Given the description of an element on the screen output the (x, y) to click on. 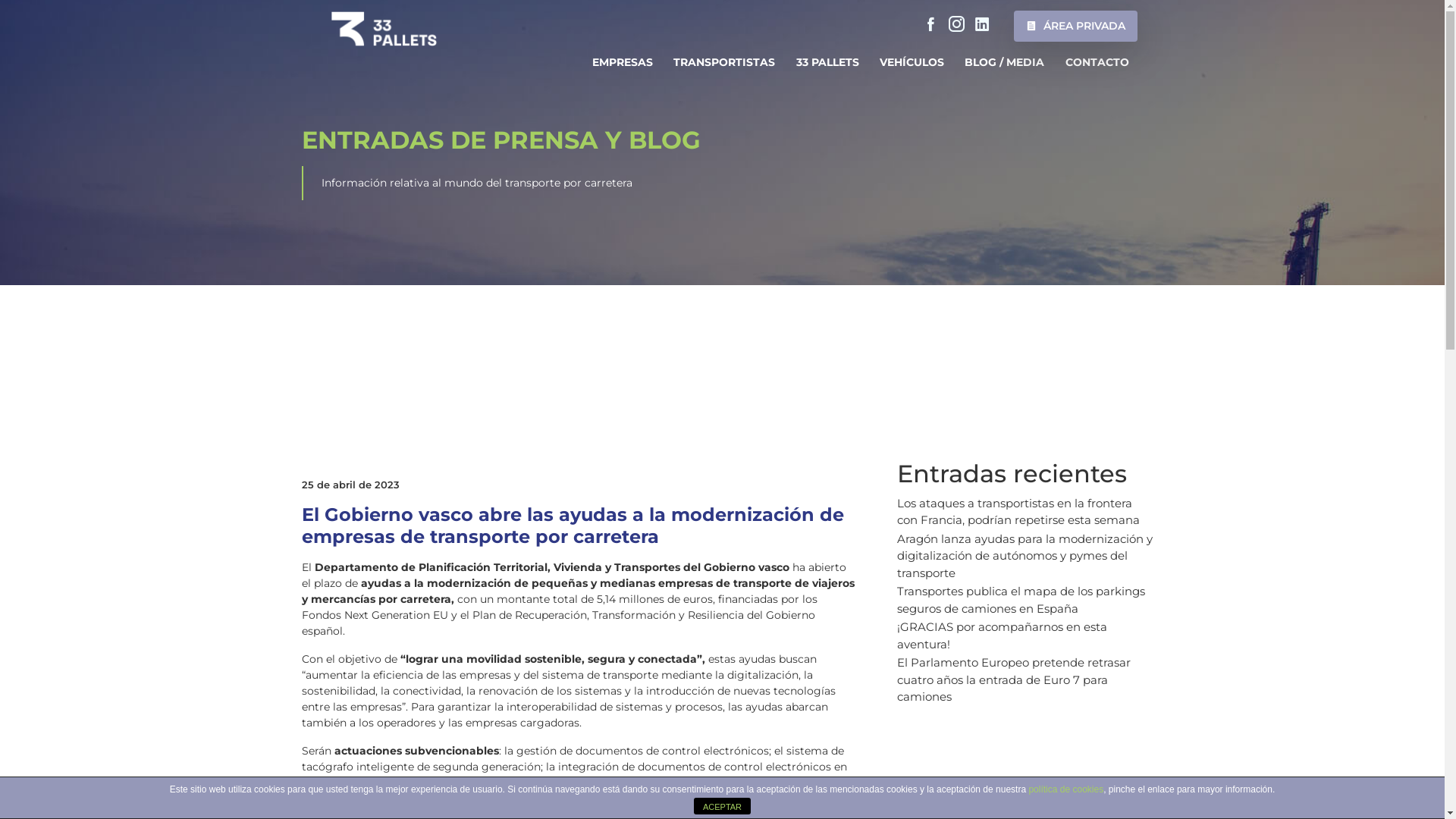
BLOG / MEDIA Element type: text (1004, 62)
EMPRESAS Element type: text (622, 62)
CONTACTO Element type: text (1097, 62)
ACEPTAR Element type: text (721, 805)
33 PALLETS Element type: text (826, 62)
TRANSPORTISTAS Element type: text (724, 62)
